Given the description of an element on the screen output the (x, y) to click on. 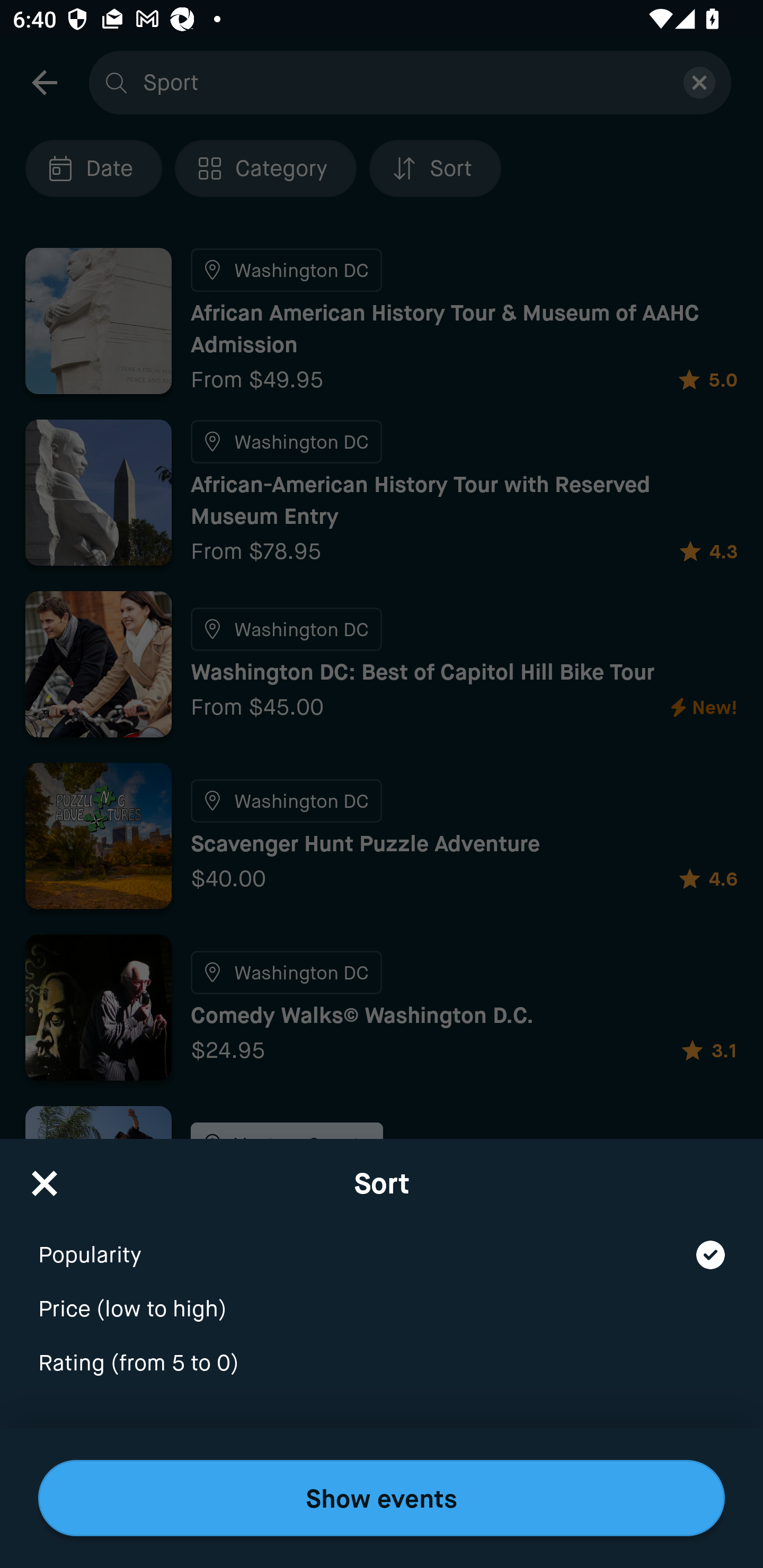
CloseButton (44, 1177)
Popularity Selected Icon (381, 1243)
Price (low to high) (381, 1297)
Rating (from 5 to 0) (381, 1362)
Show events (381, 1497)
